Given the description of an element on the screen output the (x, y) to click on. 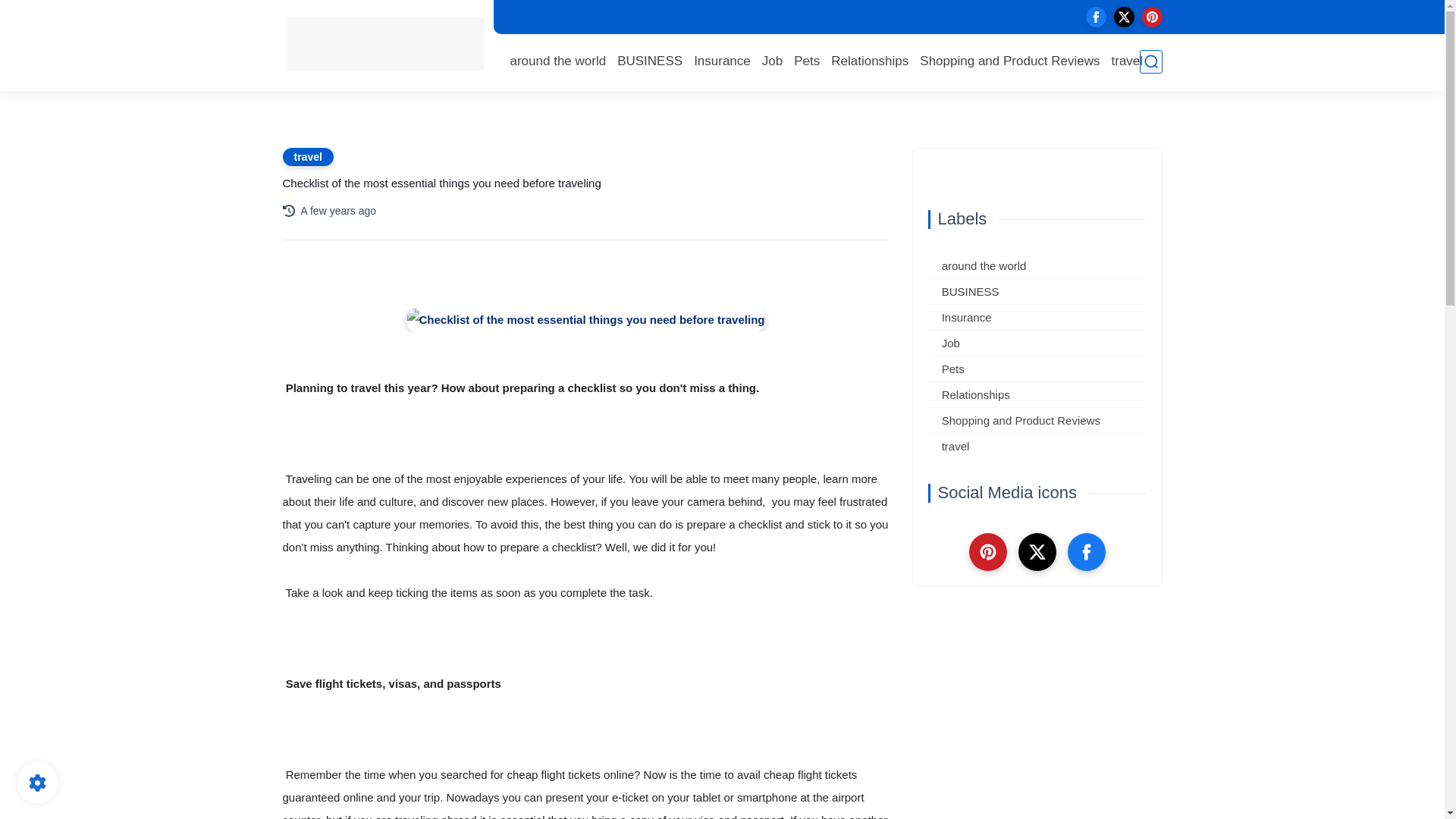
Article Update Date (337, 210)
twitter (1123, 16)
Relationships (869, 61)
facebook (1096, 16)
BUSINESS (649, 61)
Relationships (869, 61)
Job (1037, 342)
Pets (806, 61)
travel (1127, 61)
travel (307, 157)
Insurance (722, 61)
pinterest (1151, 16)
BUSINESS (649, 61)
Job (772, 61)
